Given the description of an element on the screen output the (x, y) to click on. 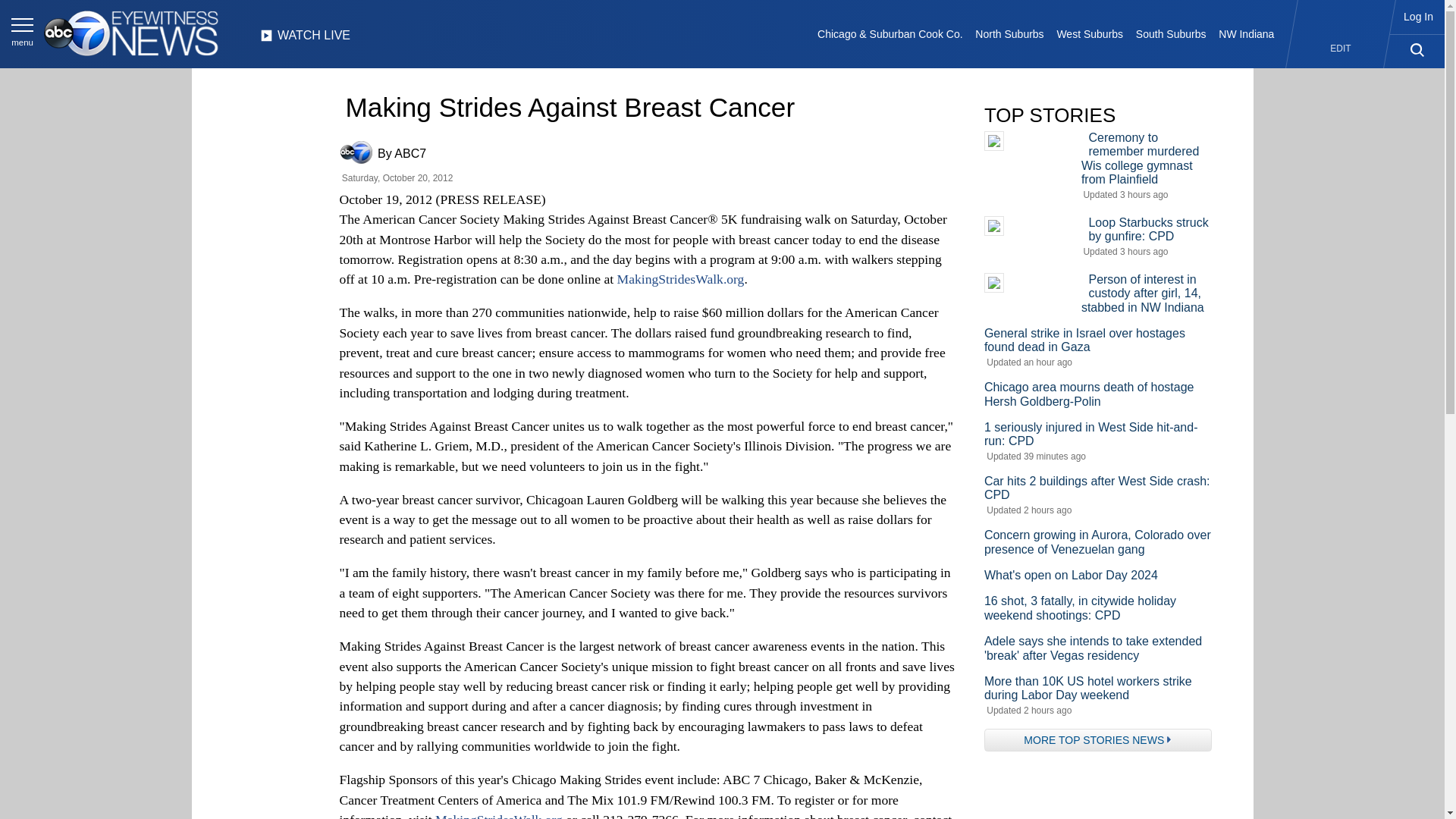
NW Indiana (1246, 33)
West Suburbs (1089, 33)
WATCH LIVE (305, 39)
South Suburbs (1170, 33)
North Suburbs (1009, 33)
EDIT (1340, 48)
